Given the description of an element on the screen output the (x, y) to click on. 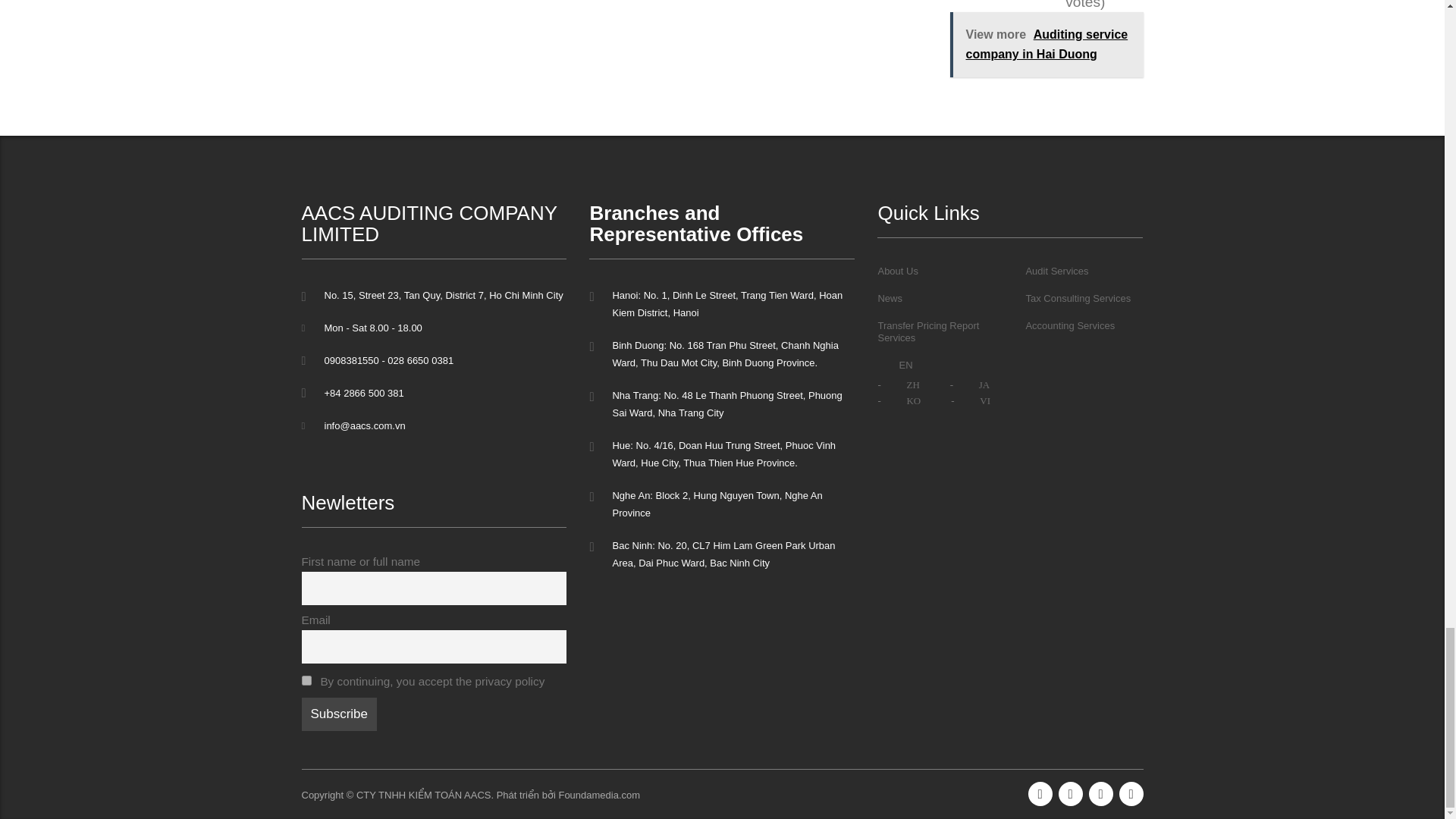
Subscribe (339, 714)
English (887, 364)
on (306, 680)
